Given the description of an element on the screen output the (x, y) to click on. 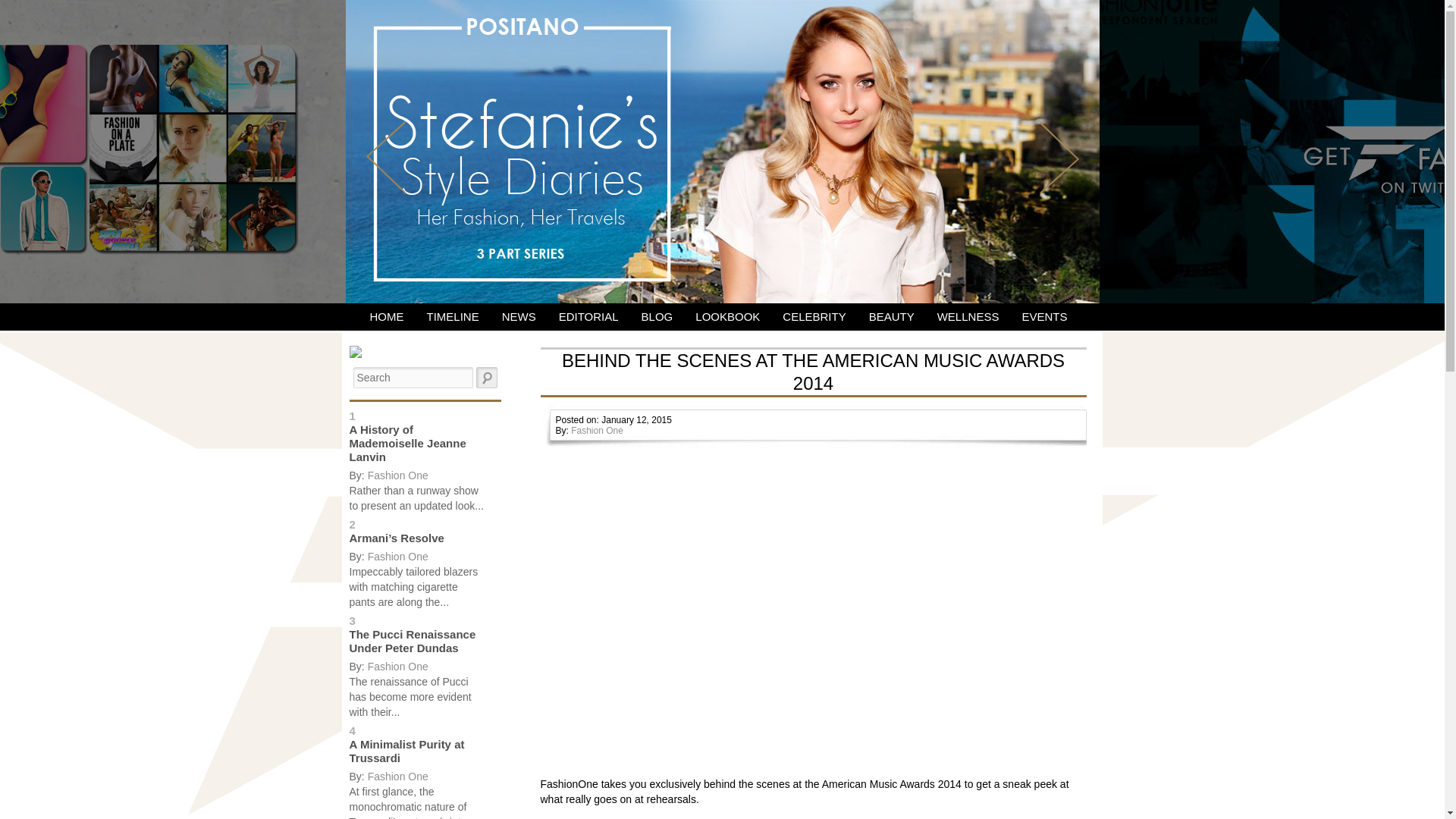
EVENTS (1044, 316)
TIMELINE (452, 316)
Fashion One (398, 475)
Fashion One (596, 430)
The Pucci Renaissance Under Peter Dundas (412, 641)
CELEBRITY (814, 316)
Fashion One (398, 666)
A History of Mademoiselle Jeanne Lanvin (407, 443)
WELLNESS (968, 316)
BEAUTY (891, 316)
Fashion One (398, 776)
LOOKBOOK (727, 316)
NEWS (518, 316)
Fashion One (398, 556)
A Minimalist Purity at Trussardi (406, 750)
